Given the description of an element on the screen output the (x, y) to click on. 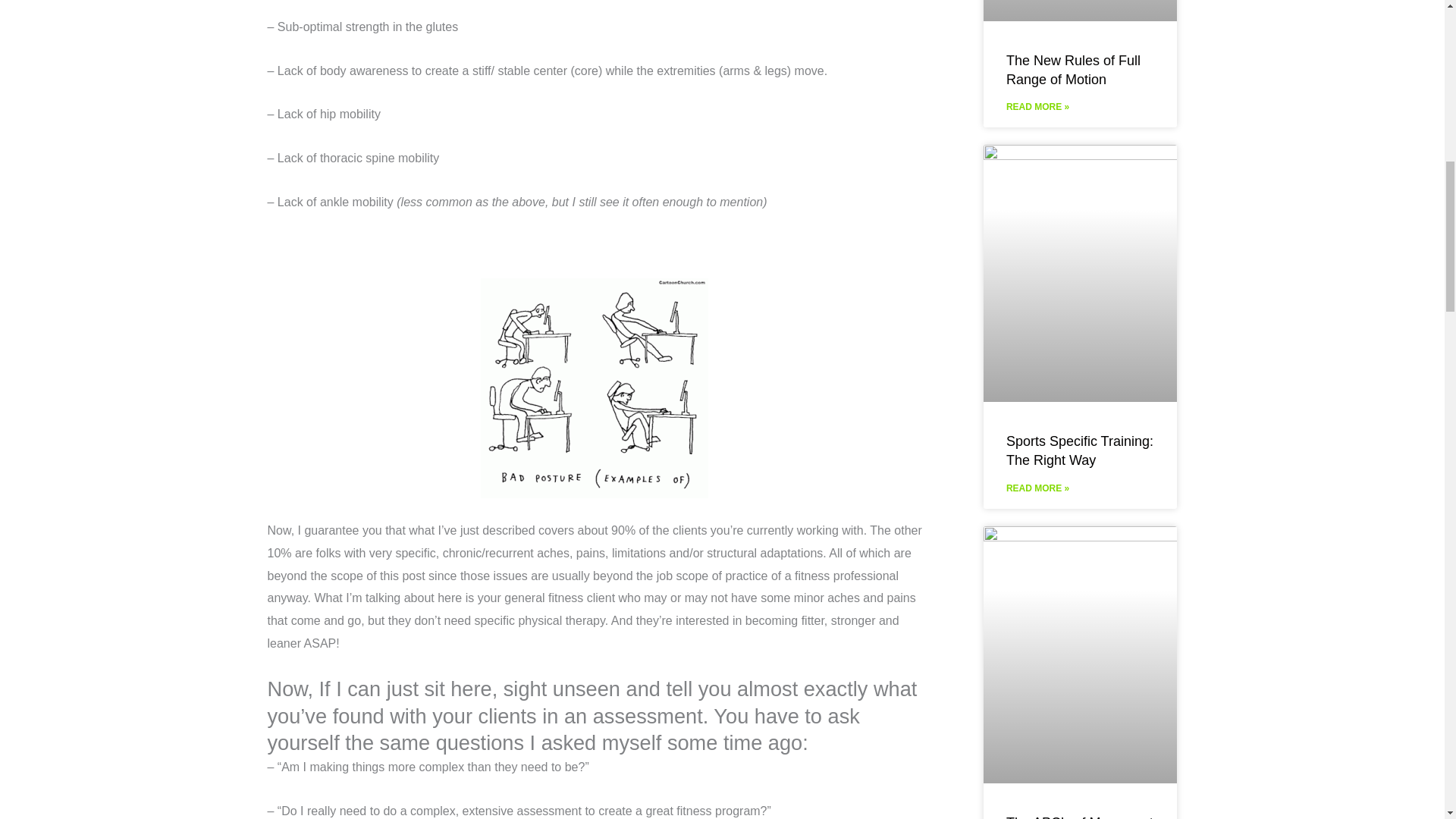
Sports Specific Training: The Right Way (1079, 450)
The New Rules of Full Range of Motion (1073, 69)
bad-posture1 (593, 387)
